Given the description of an element on the screen output the (x, y) to click on. 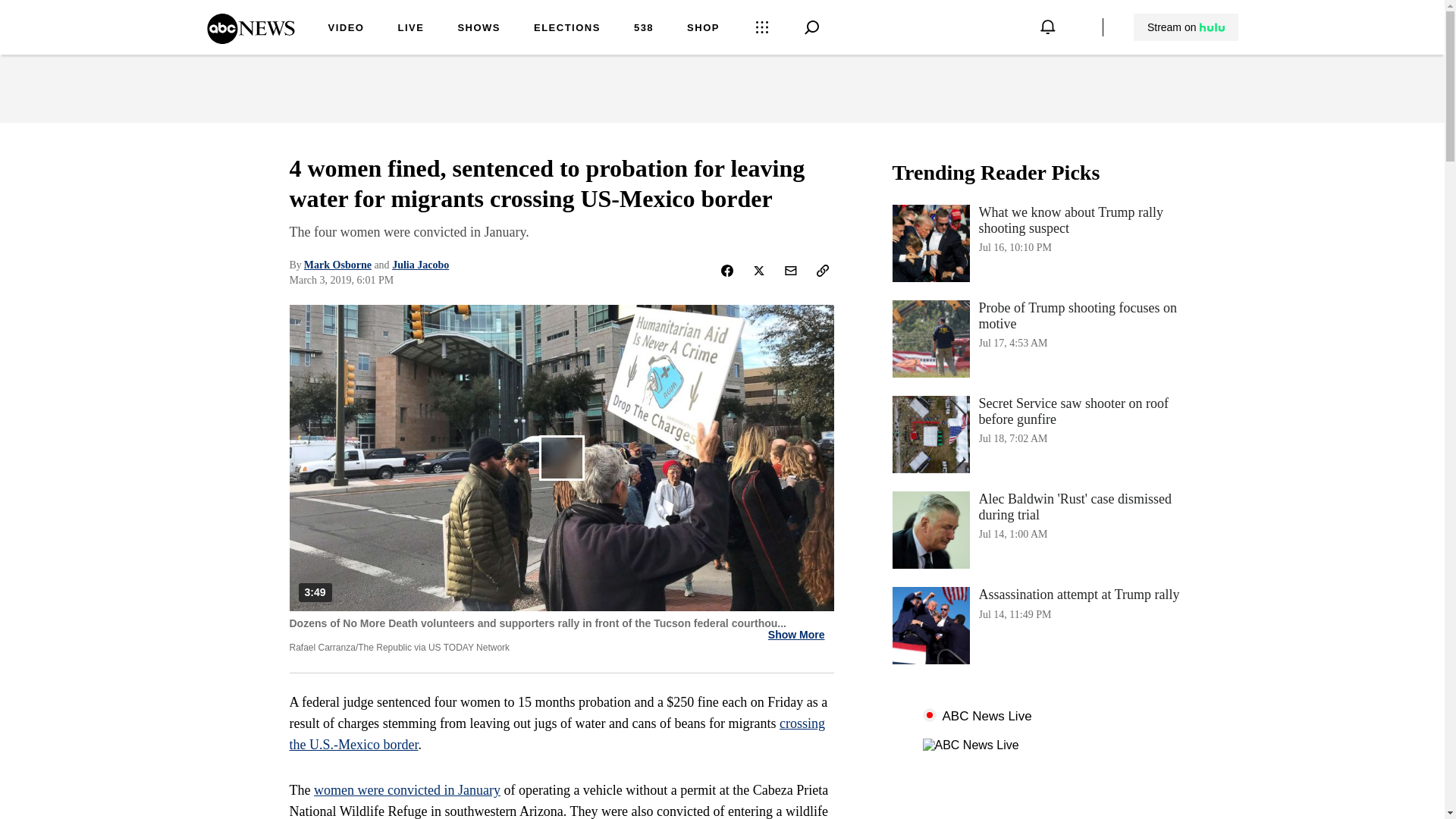
SHOWS (478, 28)
women were convicted in January (407, 789)
Julia Jacobo (419, 265)
Mark Osborne (337, 265)
VIDEO (345, 28)
ABC News (250, 38)
Stream on (1186, 26)
538 (643, 28)
crossing the U.S.-Mexico border (557, 733)
SHOP (1043, 625)
ELECTIONS (703, 28)
